Given the description of an element on the screen output the (x, y) to click on. 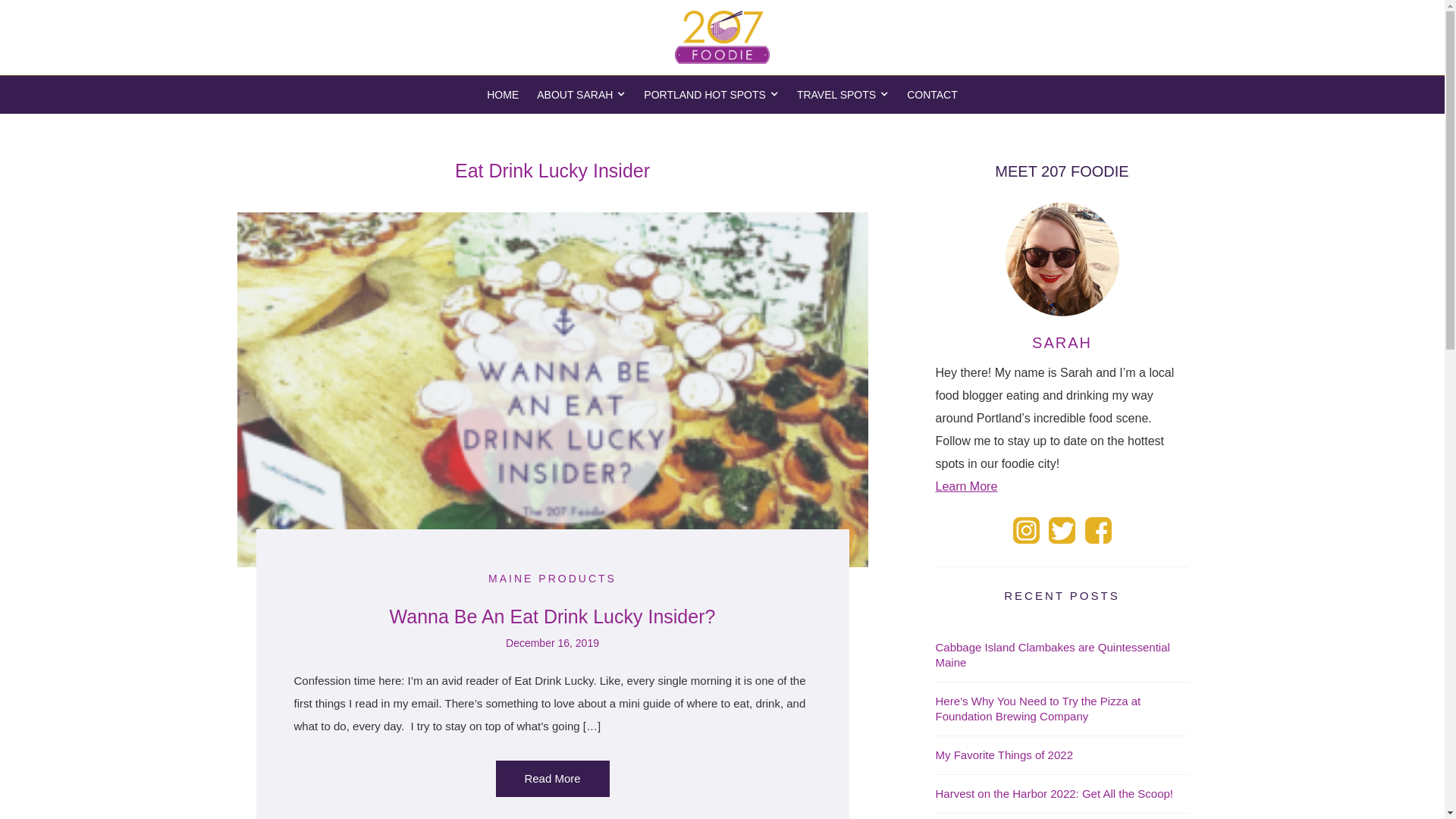
MAINE PRODUCTS Element type: text (552, 578)
Follow me on Twitter (opens new tab) Element type: hover (1061, 530)
My Favorite Things of 2022 Element type: text (1062, 755)
Harvest on the Harbor 2022: Get All the Scoop! Element type: text (1062, 794)
PORTLAND HOT SPOTS Element type: text (710, 94)
TRAVEL SPOTS Element type: text (842, 94)
Wanna Be An Eat Drink Lucky Insider? Element type: text (552, 616)
Follow me on Instagram (opens new tab) Element type: hover (1026, 530)
CONTACT Element type: text (931, 94)
Cabbage Island Clambakes are Quintessential Maine Element type: text (1062, 655)
Learn More Element type: text (966, 486)
Read More Element type: text (552, 778)
Go To Homepage Element type: hover (721, 36)
HOME Element type: text (502, 94)
Follow me on Facebook (opens new tab) Element type: hover (1097, 530)
ABOUT SARAH Element type: text (580, 94)
